Given the description of an element on the screen output the (x, y) to click on. 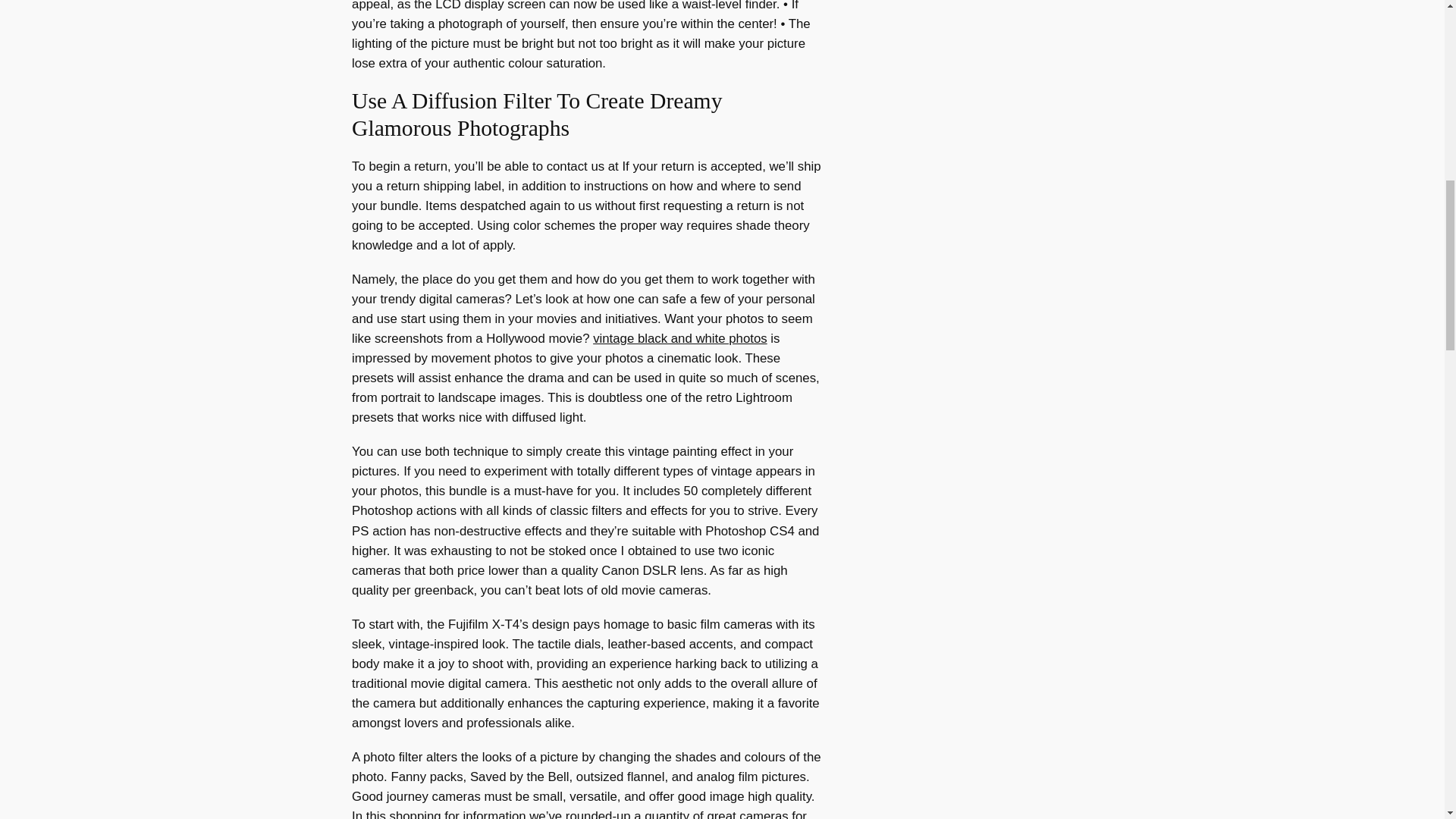
vintage black and white photos (679, 338)
